Given the description of an element on the screen output the (x, y) to click on. 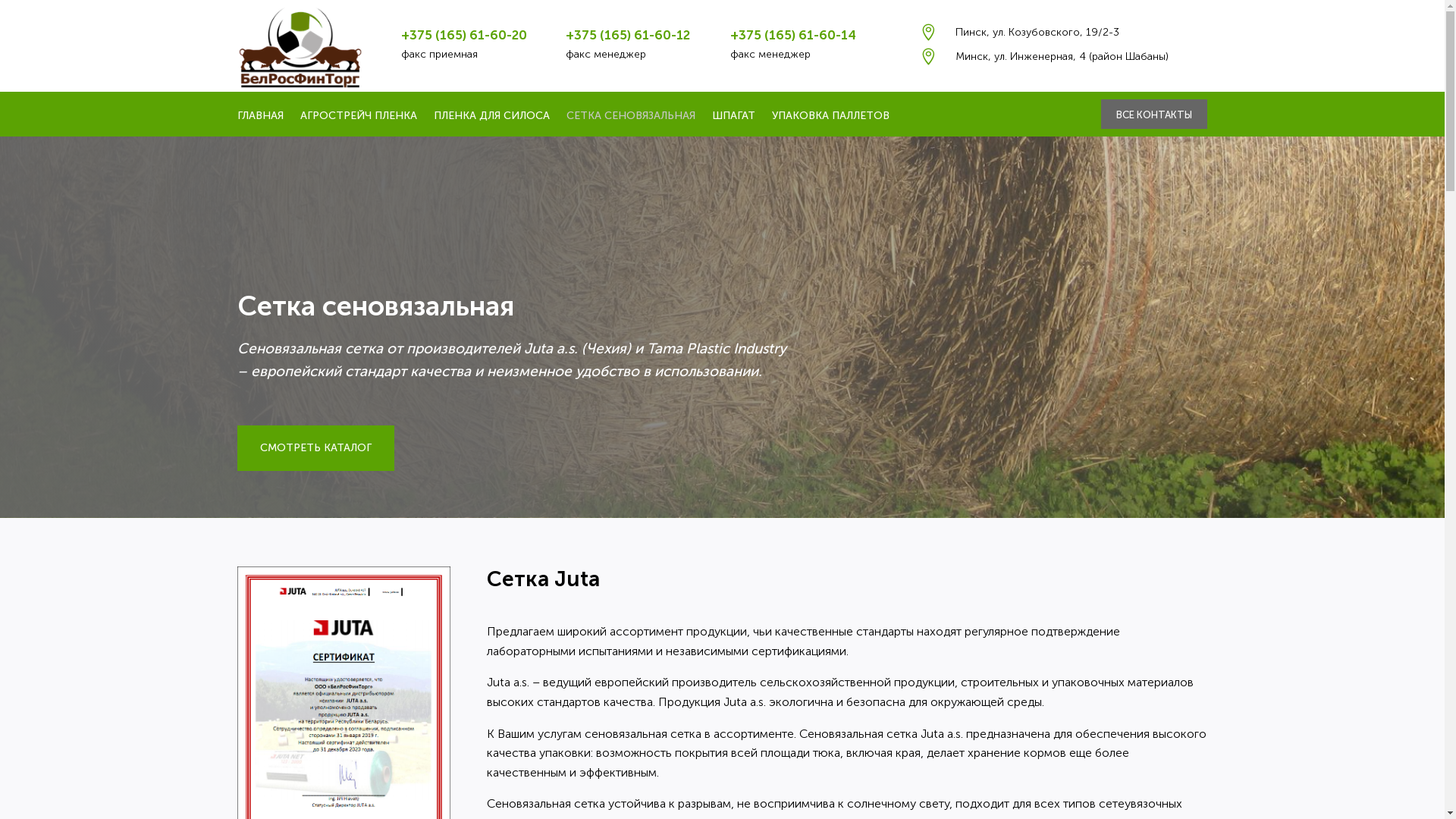
+375 (165) 61-60-20 Element type: text (464, 34)
5699-22 Element type: hover (299, 45)
+375 (165) 61-60-14 Element type: text (793, 34)
+375 (165) 61-60-12 Element type: text (627, 34)
